Given the description of an element on the screen output the (x, y) to click on. 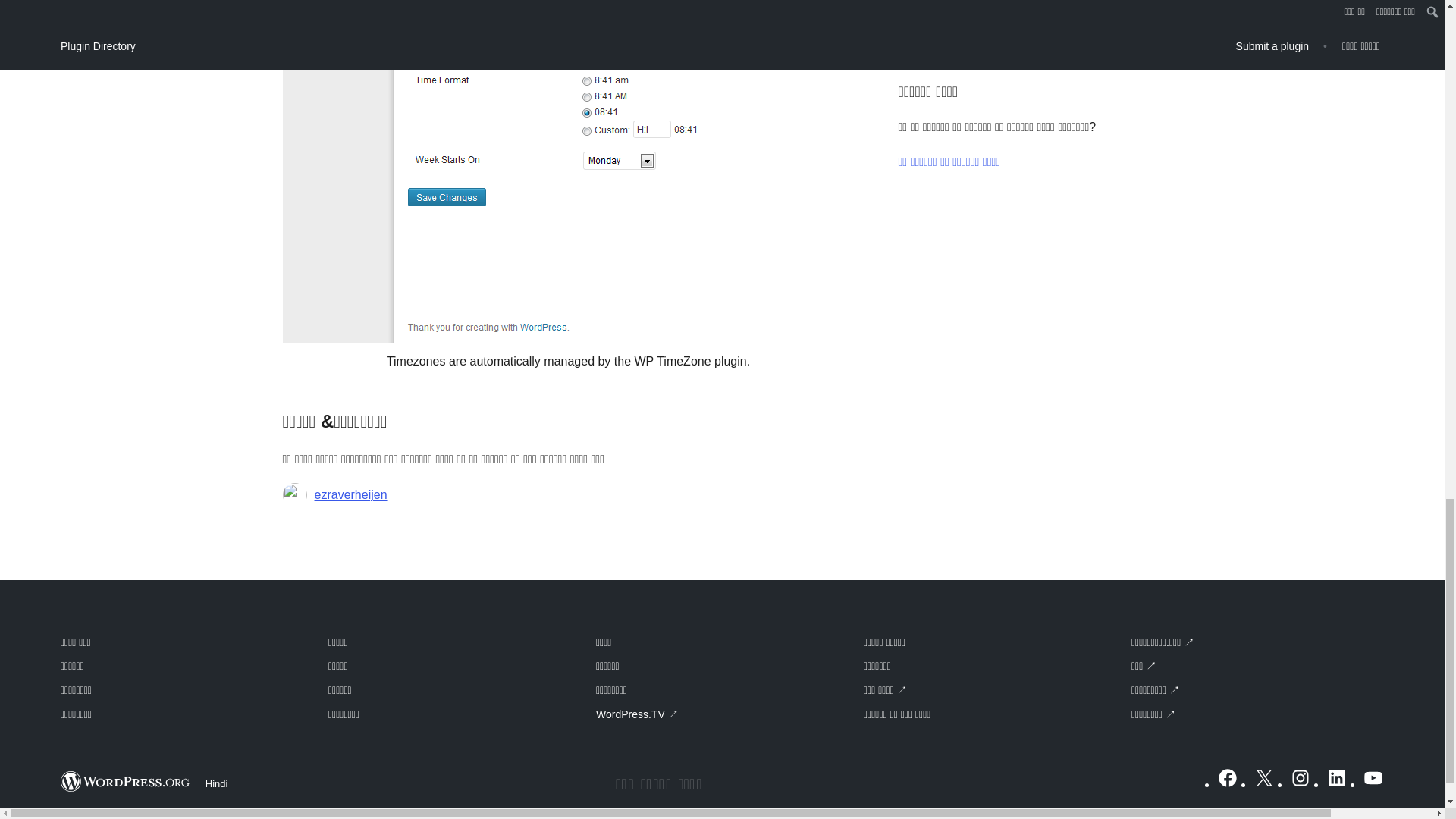
WordPress.org (125, 781)
ezraverheijen (350, 495)
